Given the description of an element on the screen output the (x, y) to click on. 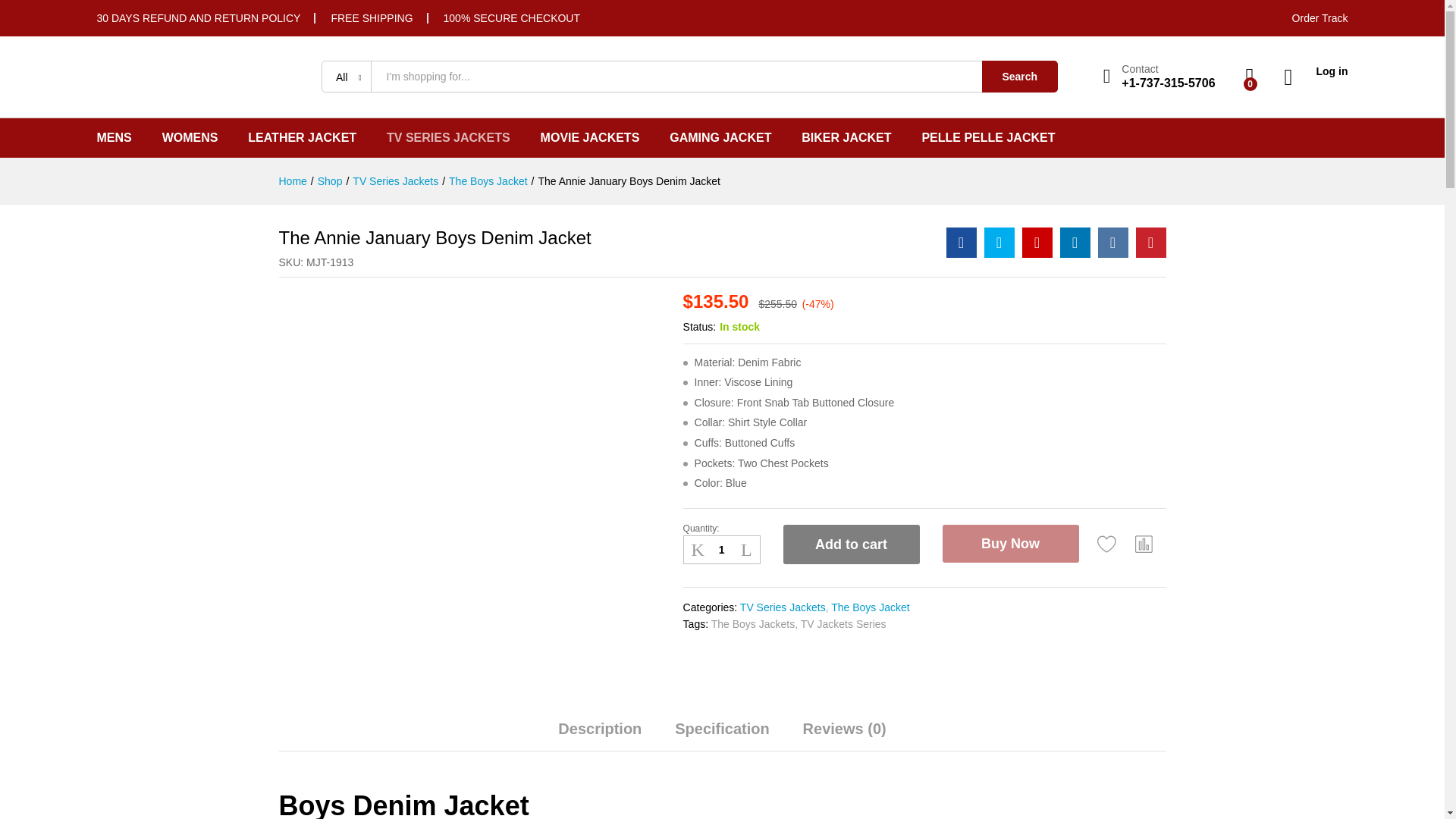
Order Track (1320, 18)
Log in (1316, 71)
WOMENS (189, 137)
LEATHER JACKET (301, 137)
The Annie January Boys Denim Jacket (961, 242)
MENS (114, 137)
TV SERIES JACKETS (449, 137)
Qty (721, 549)
MOVIE JACKETS (590, 137)
BIKER JACKET (846, 137)
